Given the description of an element on the screen output the (x, y) to click on. 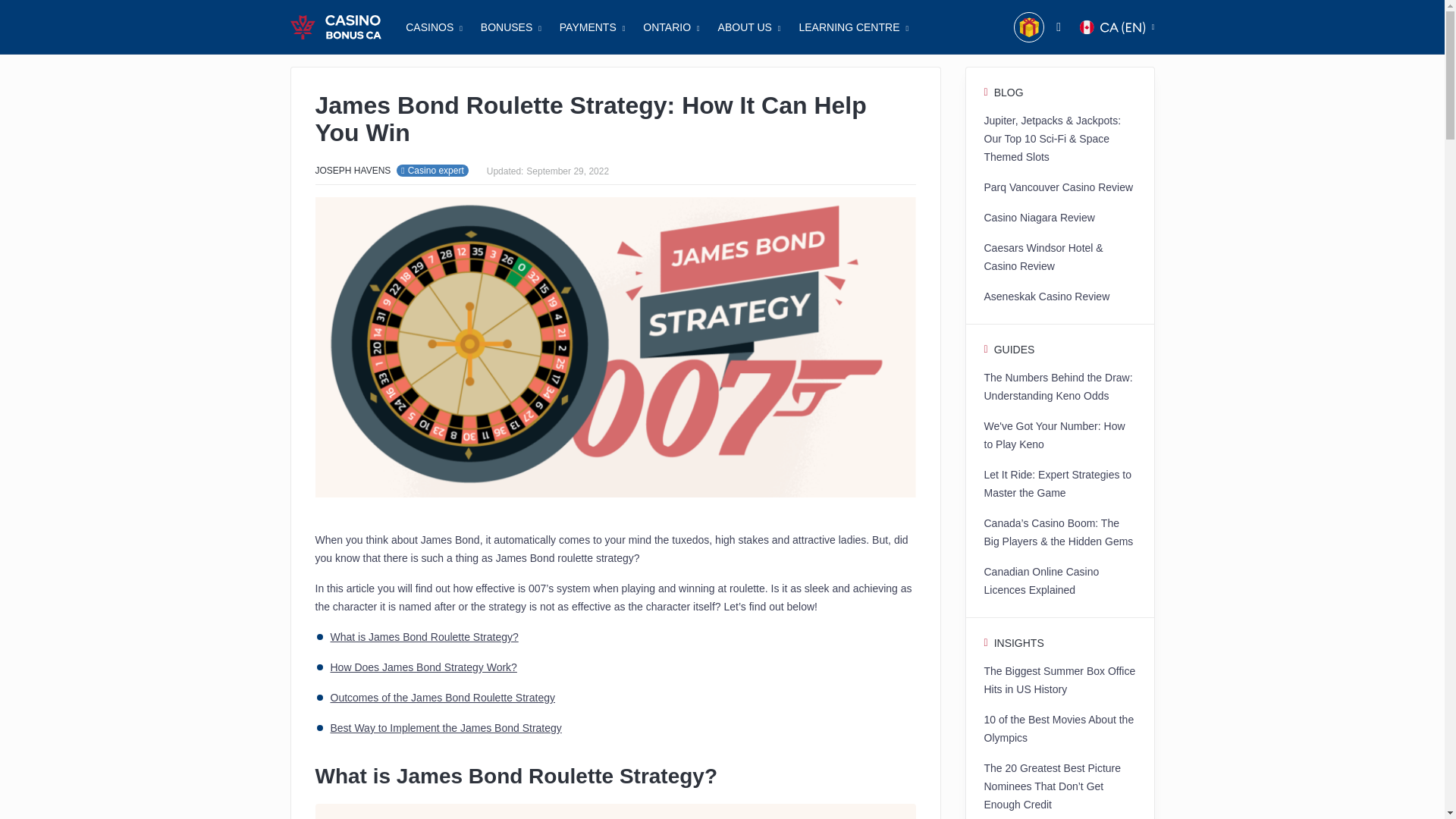
Bonus of the day (1029, 26)
